Given the description of an element on the screen output the (x, y) to click on. 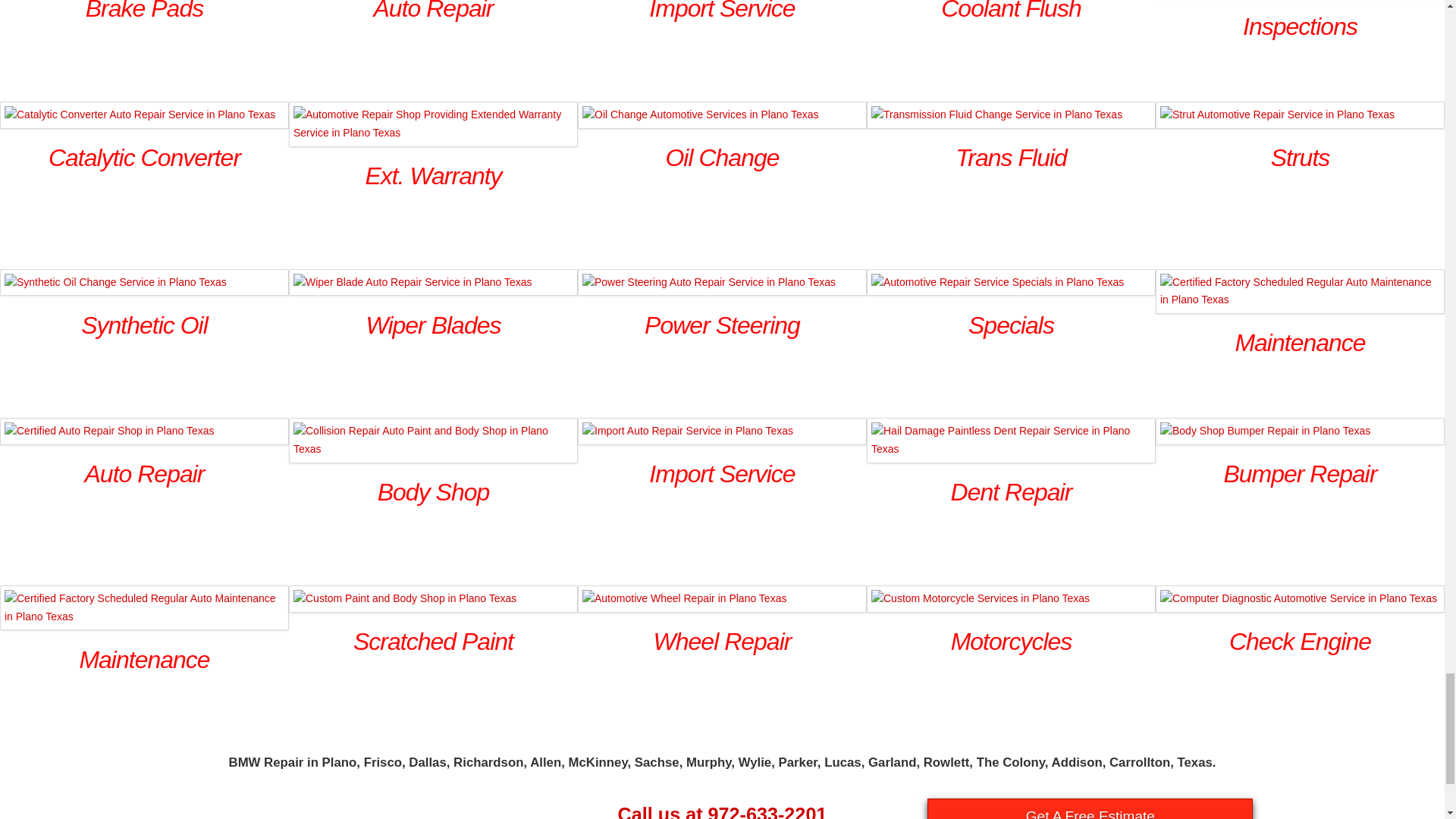
Strut Automotive Repair Service in Plano Texas (1300, 114)
Catalytic Converter Auto Repair Service in Plano Texas (144, 114)
Transmission Fluid Change Service in Plano Texas (1011, 114)
Oil Change Automotive Services in Plano Texas (722, 114)
Synthetic Oil Change Service in Plano Texas (144, 281)
Wiper Blade Auto Repair Service in Plano Texas (433, 281)
Automotive Repair Service Specials in Plano Texas (1011, 281)
Power Steering Auto Repair Service in Plano Texas (722, 281)
